Given the description of an element on the screen output the (x, y) to click on. 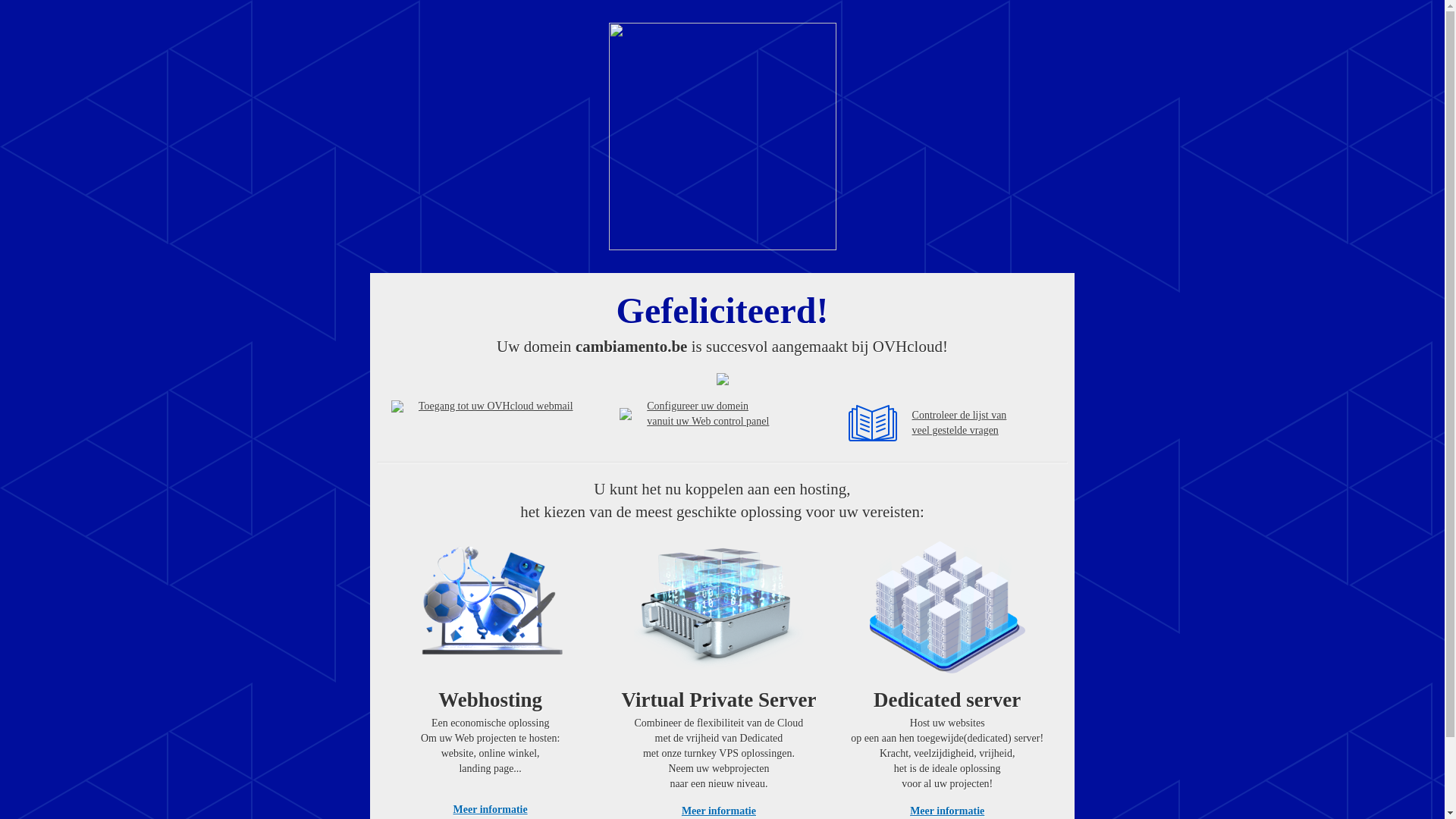
Virtual Private Server Element type: hover (718, 608)
Toegang tot OVHcloud webmail Element type: hover (397, 406)
Toegang tot uw OVHcloud webmail Element type: text (495, 406)
Configureer uw domein
vanuit uw Web control panel Element type: text (707, 413)
Ga naar de 'meest gestelde vragen' Element type: hover (872, 422)
Meer informatie Element type: text (490, 809)
Meer informatie Element type: text (947, 810)
Meer informatie Element type: text (718, 810)
OVHcloud Element type: hover (721, 245)
Webhosting Element type: hover (490, 608)
Controleer de lijst van
veel gestelde vragen Element type: text (959, 422)
Dedicated servers Element type: hover (947, 608)
Toegang tot uw control panel Element type: hover (625, 413)
